Given the description of an element on the screen output the (x, y) to click on. 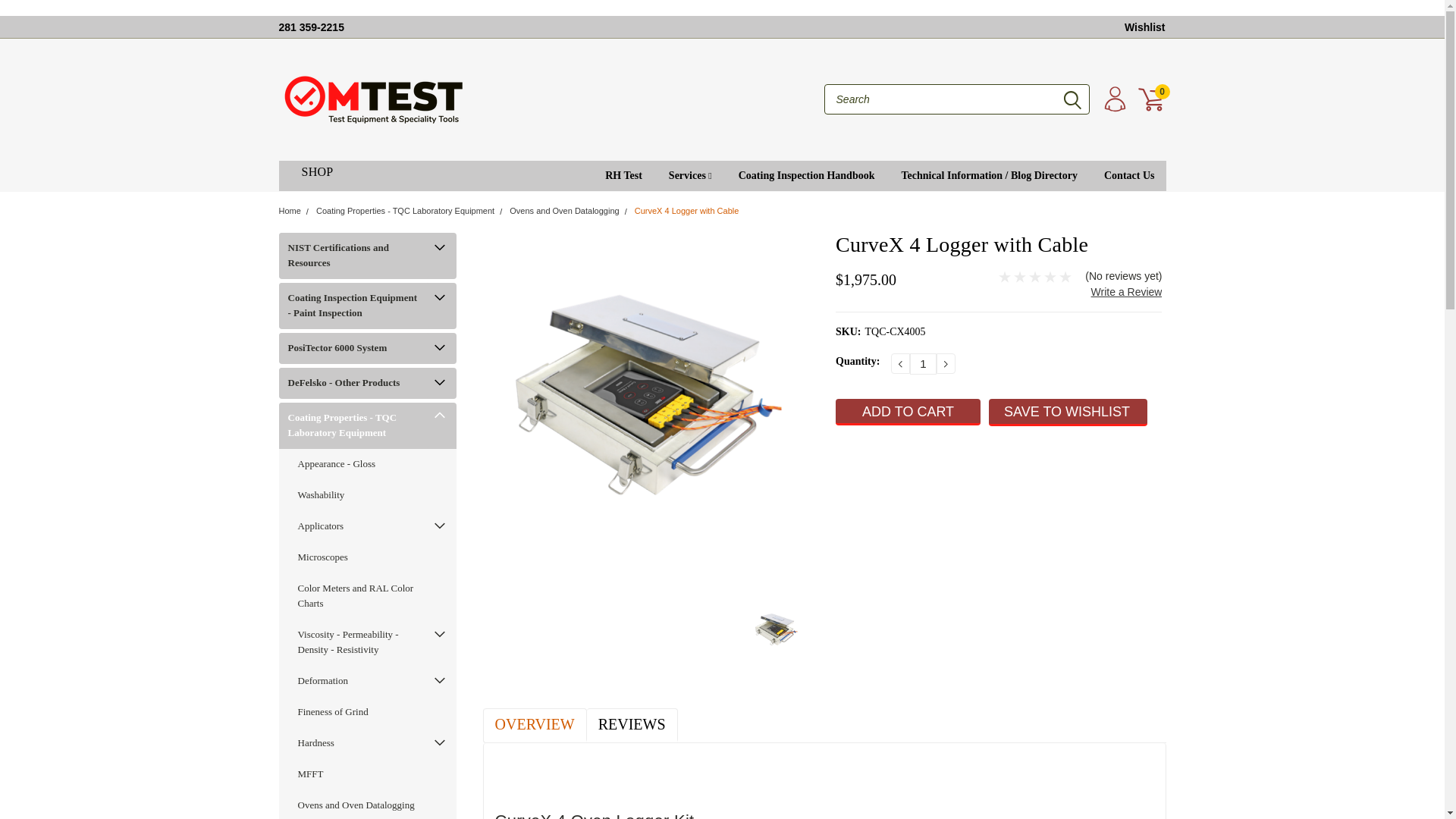
Add to Cart (907, 411)
1 (923, 363)
MTest (373, 99)
281 359-2215 (311, 27)
0 (1151, 98)
Wishlist (1145, 27)
